Given the description of an element on the screen output the (x, y) to click on. 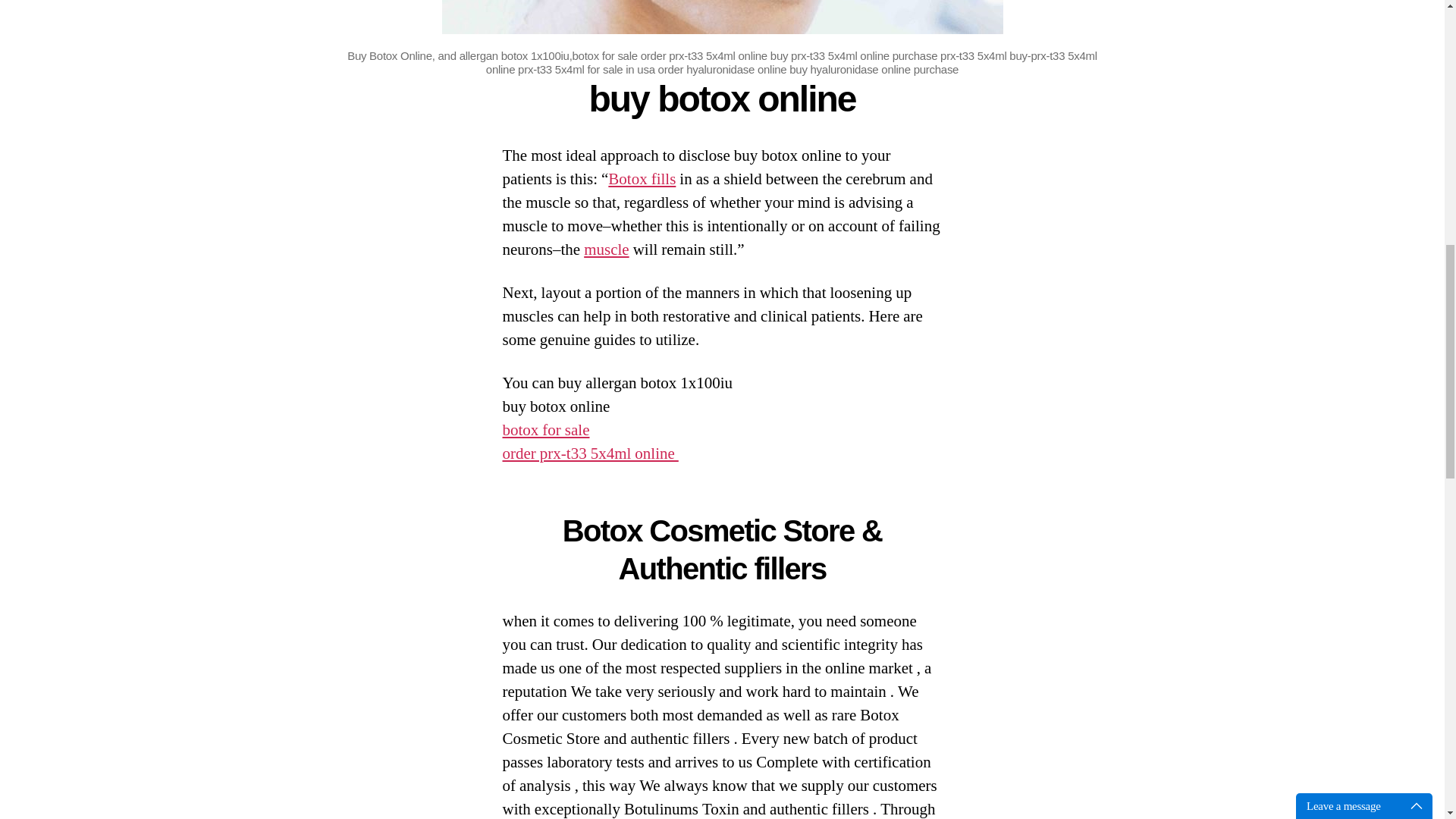
Botox fills (641, 178)
botox for sale (545, 430)
muscle (605, 249)
order prx-t33 5x4ml online  (590, 453)
